Given the description of an element on the screen output the (x, y) to click on. 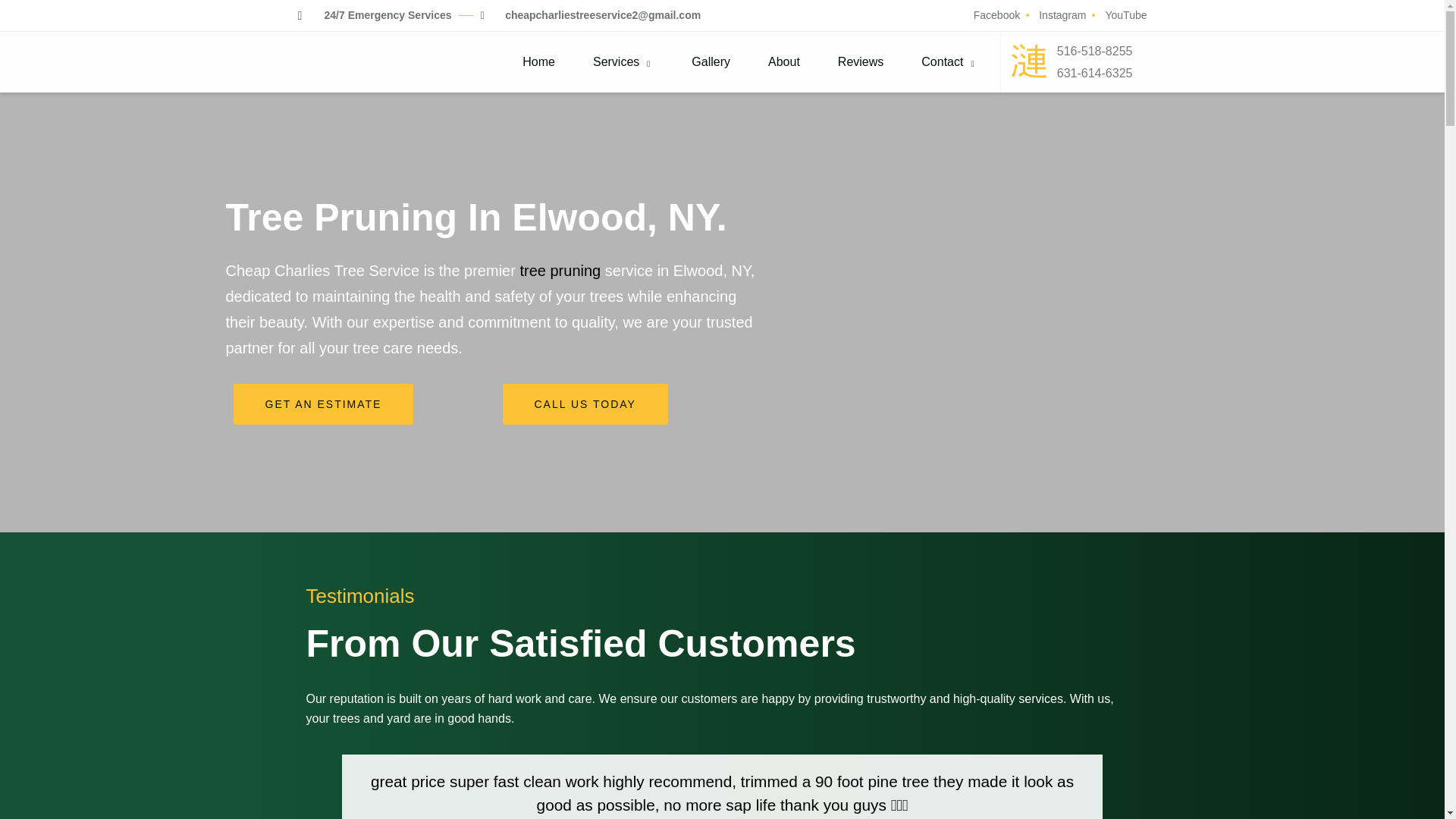
tree pruning (559, 270)
CALL US TODAY (584, 404)
631-614-6325 (1104, 72)
Tree Trimming,Tree Pruning (559, 270)
Home (542, 61)
YouTube (1123, 15)
GET AN ESTIMATE (322, 404)
Gallery (714, 61)
Facebook (994, 15)
516-518-8255 (1104, 51)
Instagram (1060, 15)
Contact (952, 61)
Reviews (863, 61)
Services (627, 61)
About (787, 61)
